Given the description of an element on the screen output the (x, y) to click on. 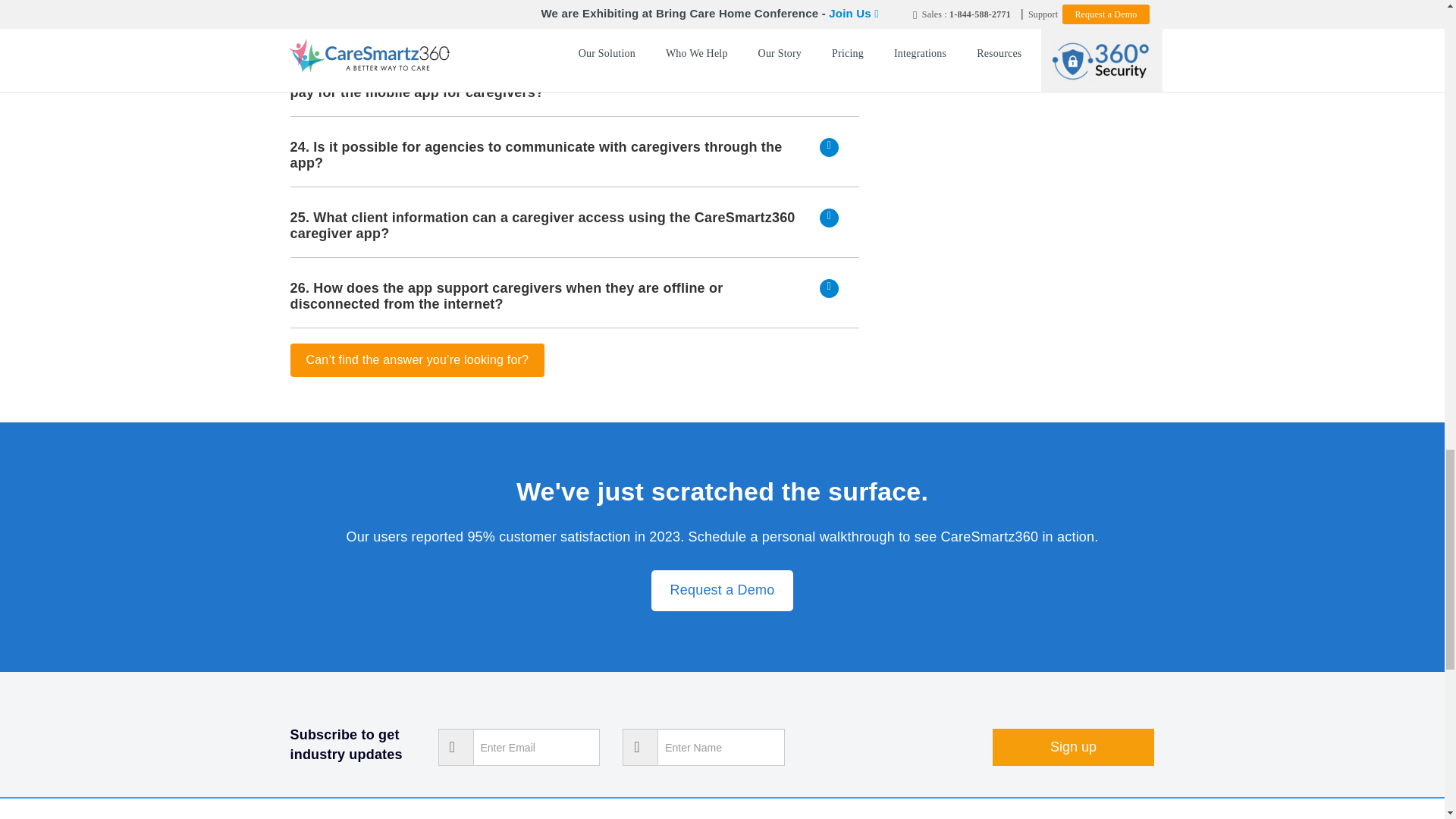
Sign up (1073, 746)
